Given the description of an element on the screen output the (x, y) to click on. 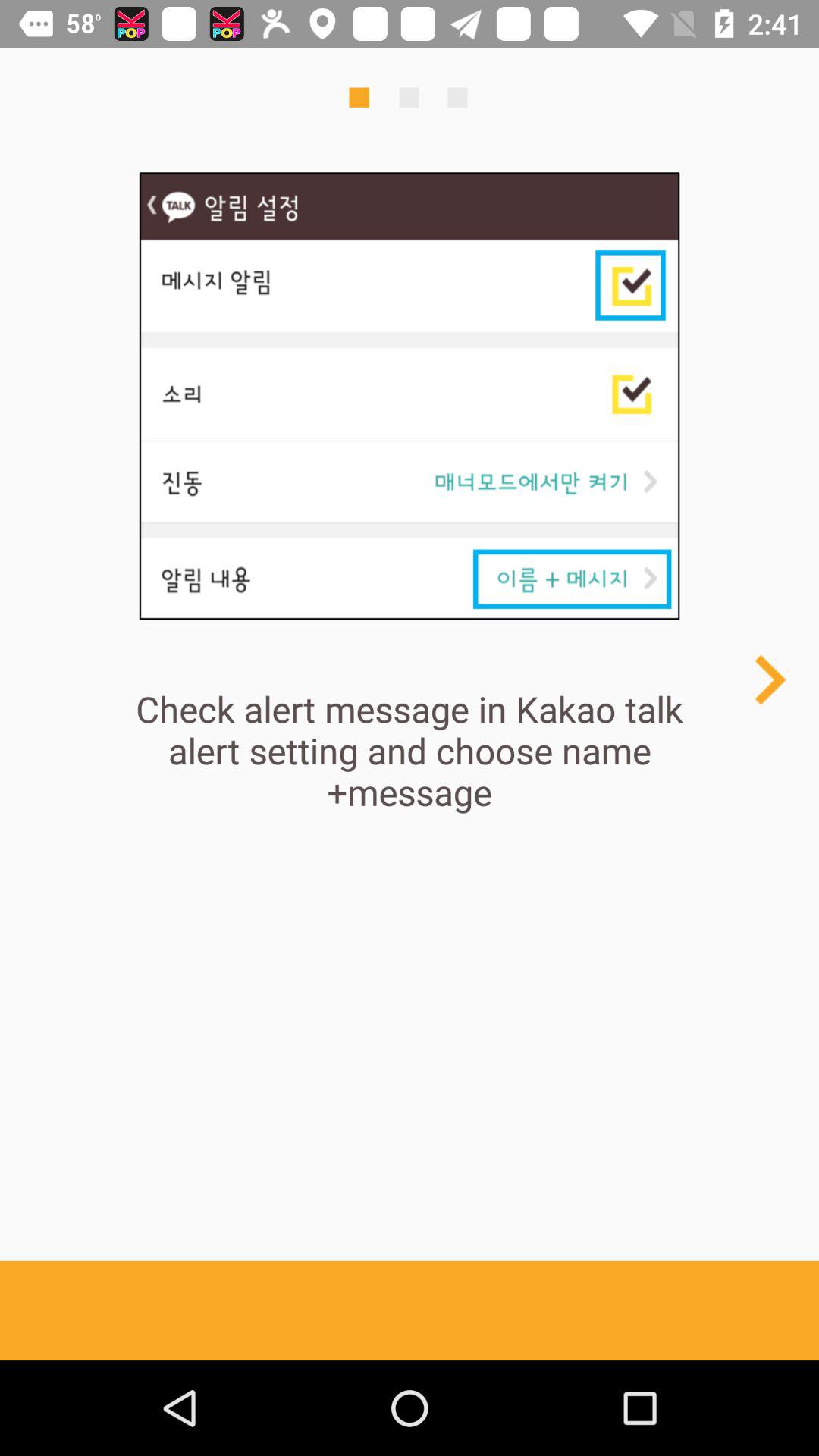
advance to next page (769, 679)
